Given the description of an element on the screen output the (x, y) to click on. 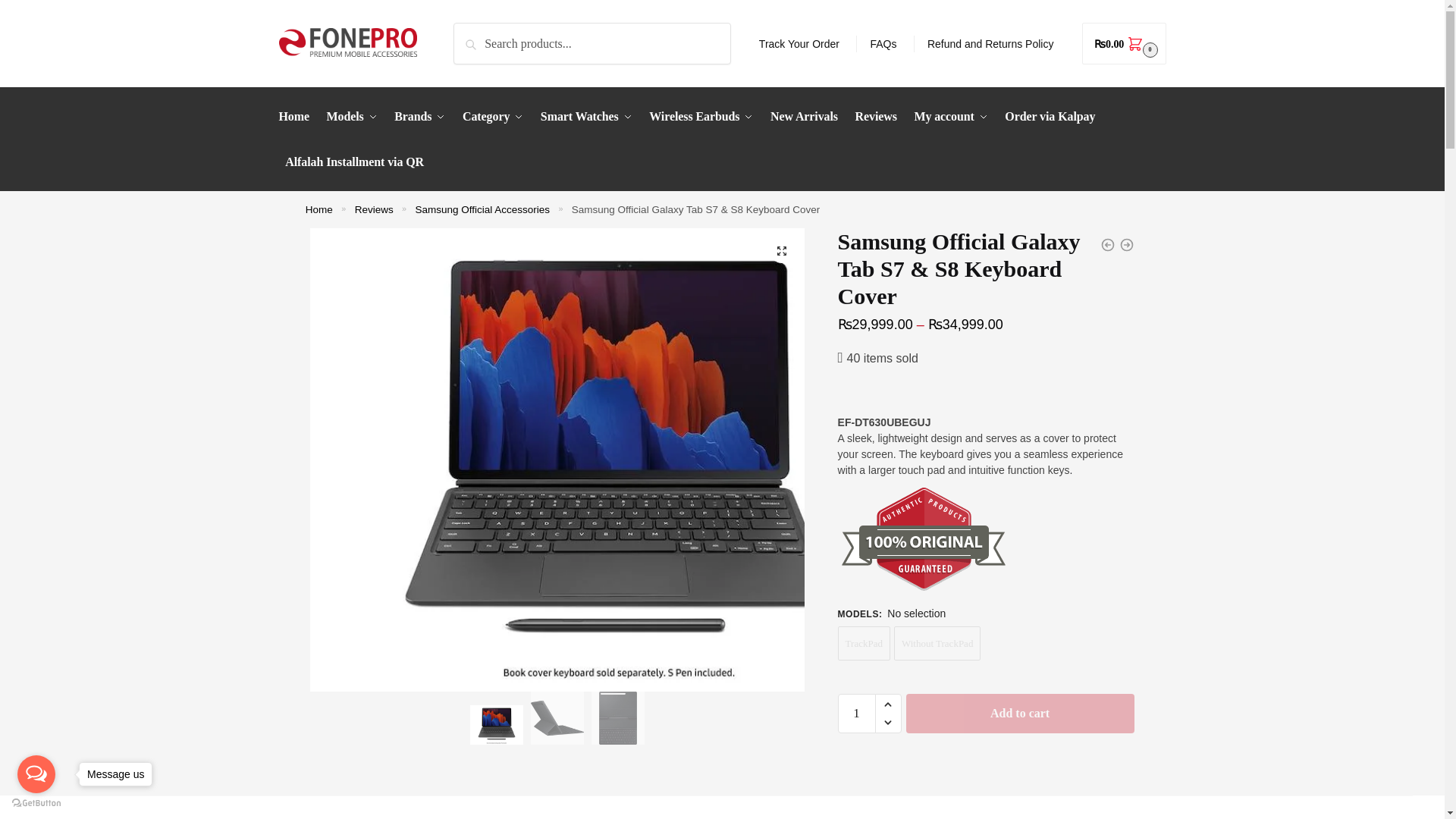
Without TrackPad - Out of stock (936, 643)
FAQs (882, 44)
Models (352, 116)
1 (857, 713)
View your shopping cart (1123, 43)
Search (474, 33)
TrackPad - Out of stock (863, 643)
Track Your Order (798, 44)
Refund and Returns Policy (990, 44)
